Given the description of an element on the screen output the (x, y) to click on. 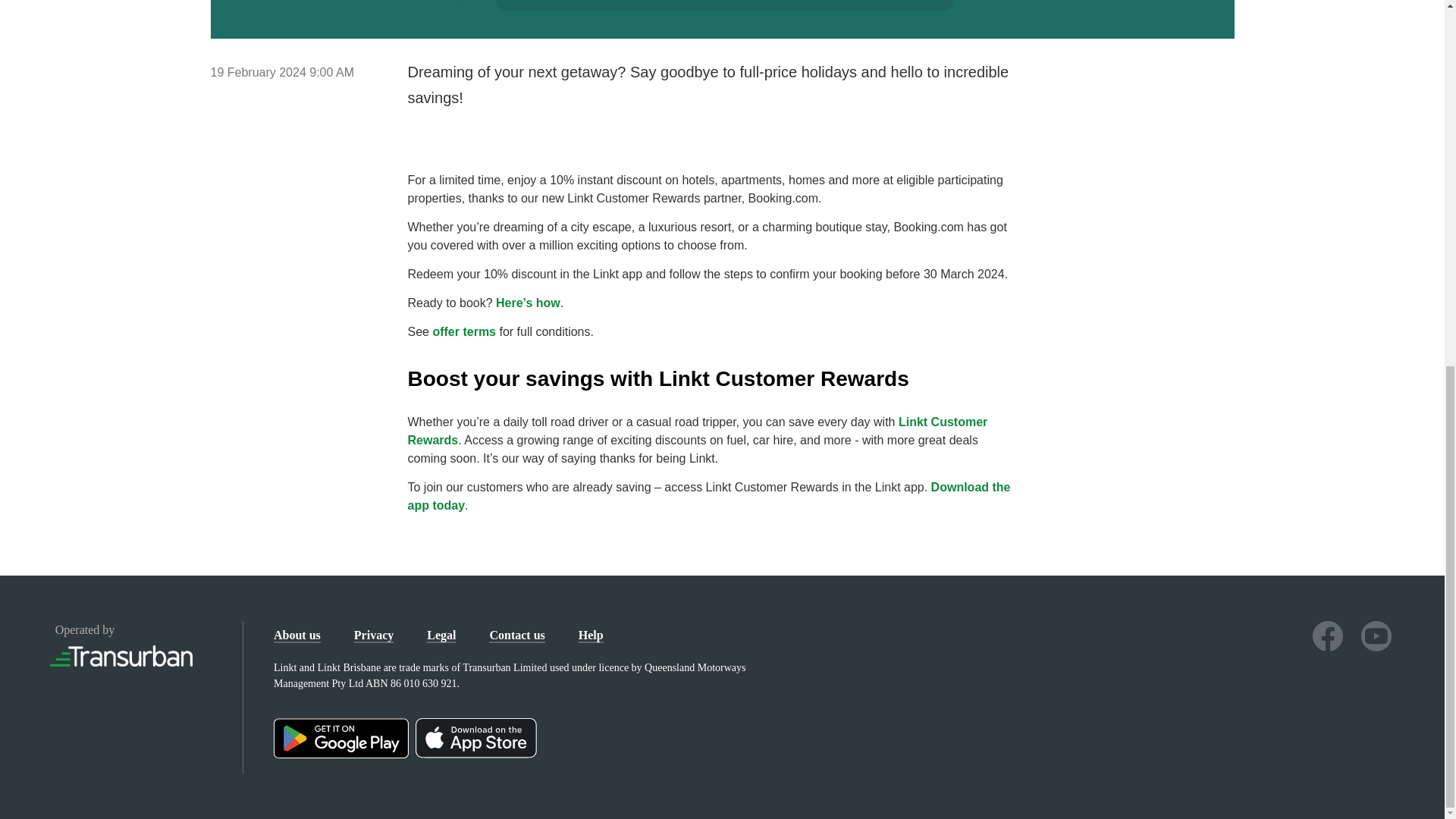
Download the Linkt app on Google Play (343, 754)
Download the Linkt app on the App Store (477, 754)
